Given the description of an element on the screen output the (x, y) to click on. 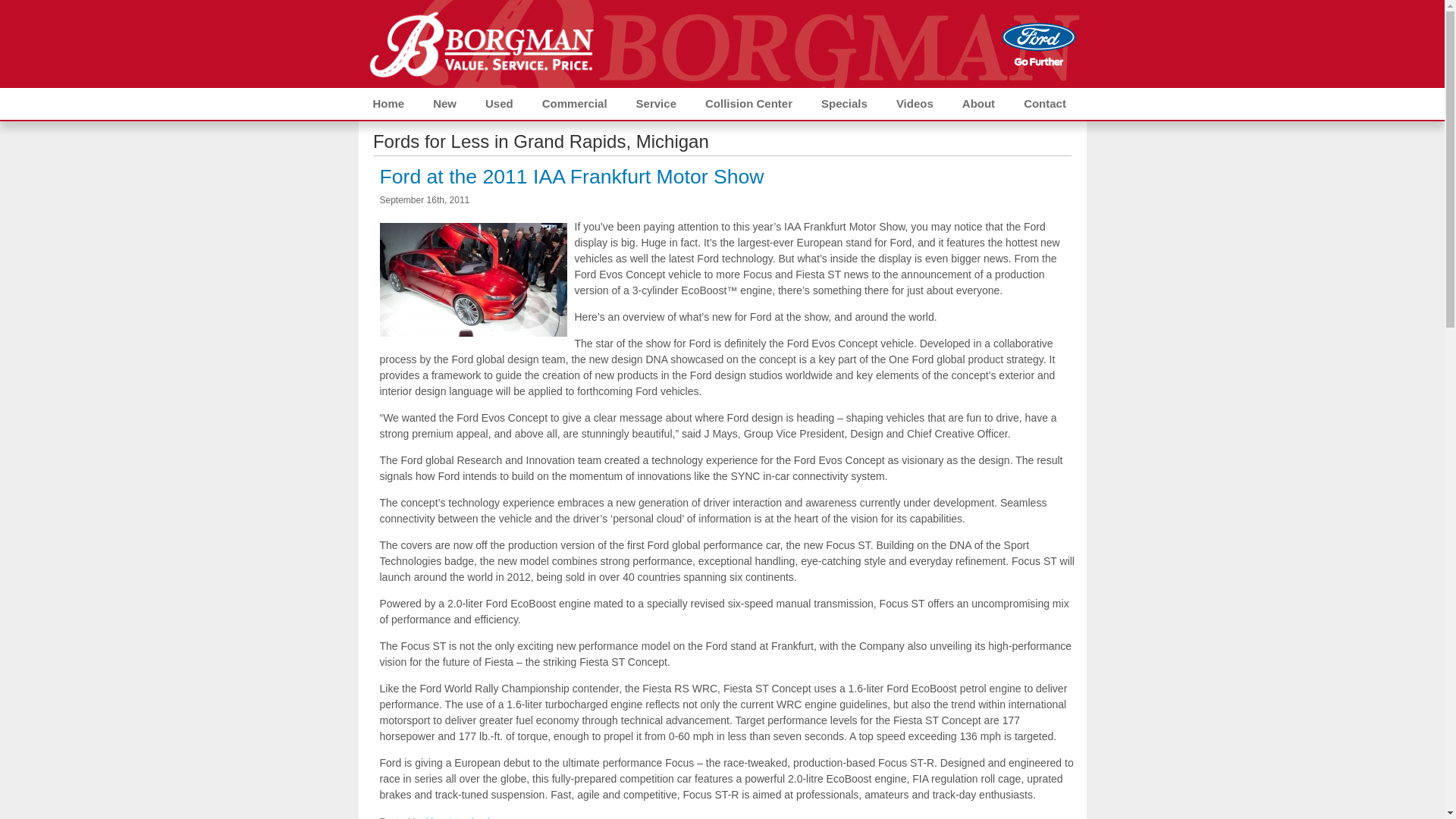
Service (655, 103)
Collision Center (748, 103)
About (978, 103)
Borgman Ford Mazda Grand Rapids News -  (479, 42)
Used (498, 103)
Commercial (574, 103)
Contact (1044, 103)
Home (388, 103)
Videos (914, 103)
Uncategorized (457, 817)
